Given the description of an element on the screen output the (x, y) to click on. 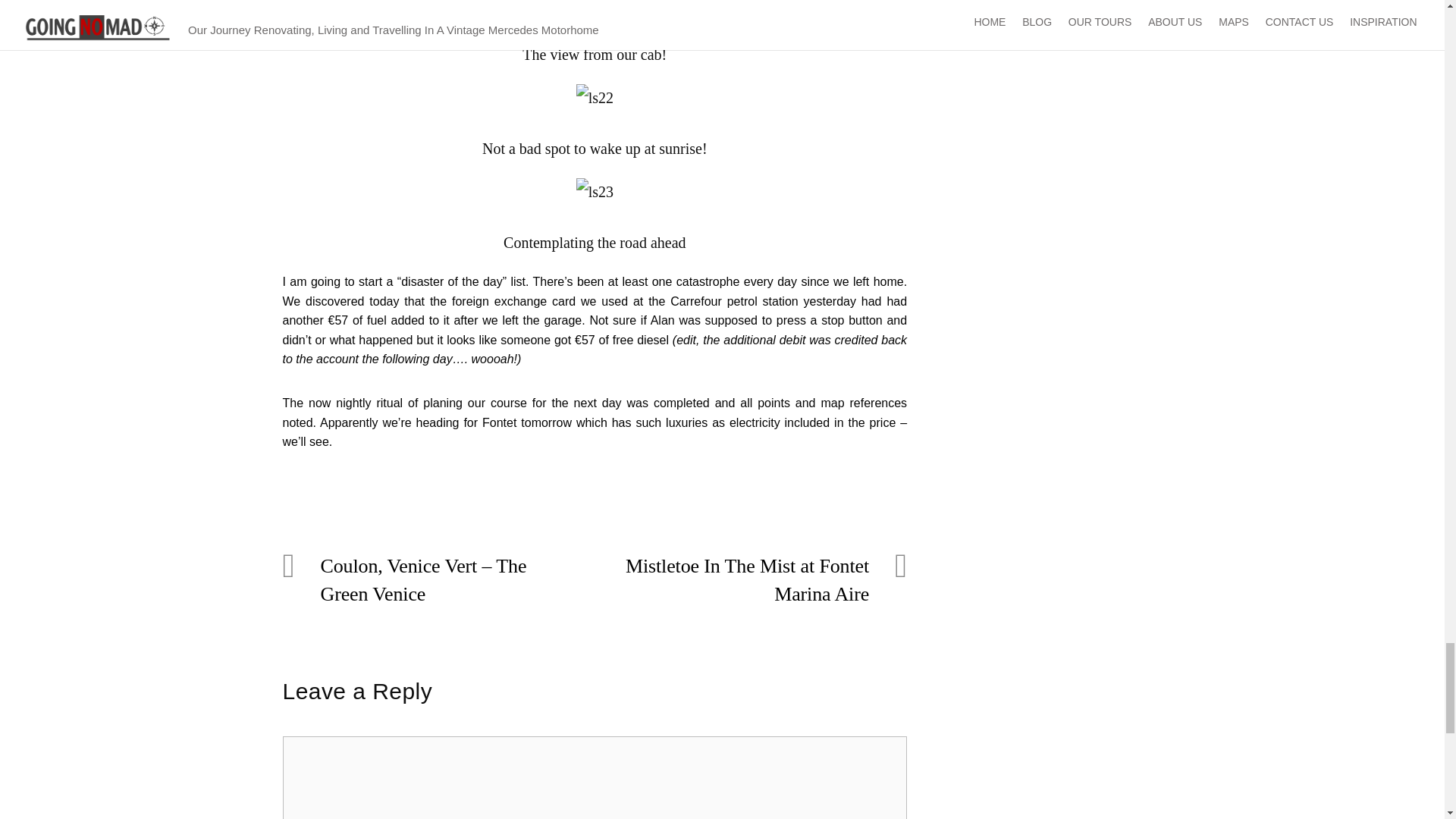
Mistletoe In The Mist at Fontet Marina Aire (740, 580)
